Given the description of an element on the screen output the (x, y) to click on. 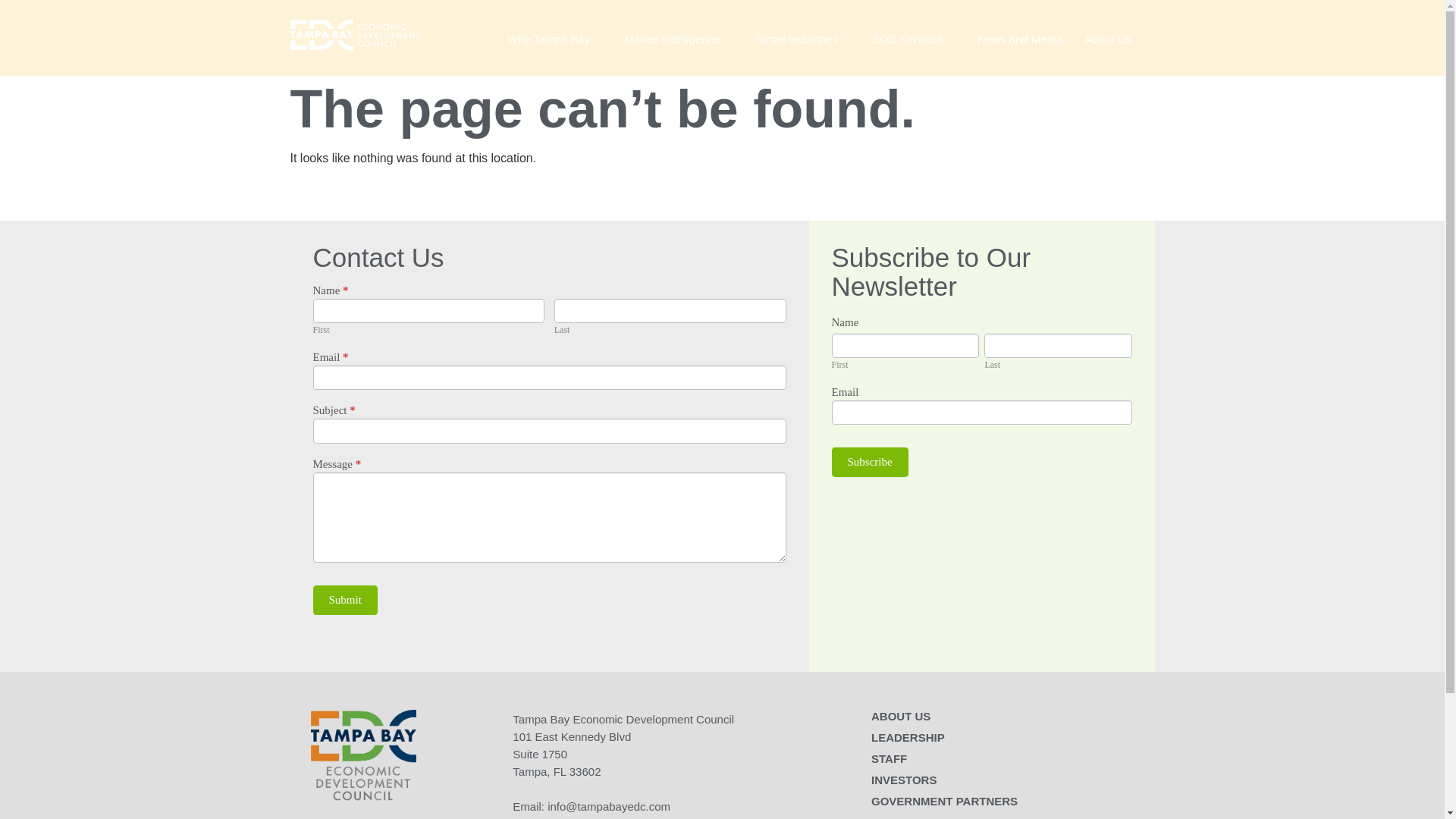
News and Media (1020, 38)
Market Intelligence (677, 38)
About Us (1114, 38)
Target Industries (801, 38)
Why Tampa Bay (554, 38)
EDC Services (912, 38)
